Given the description of an element on the screen output the (x, y) to click on. 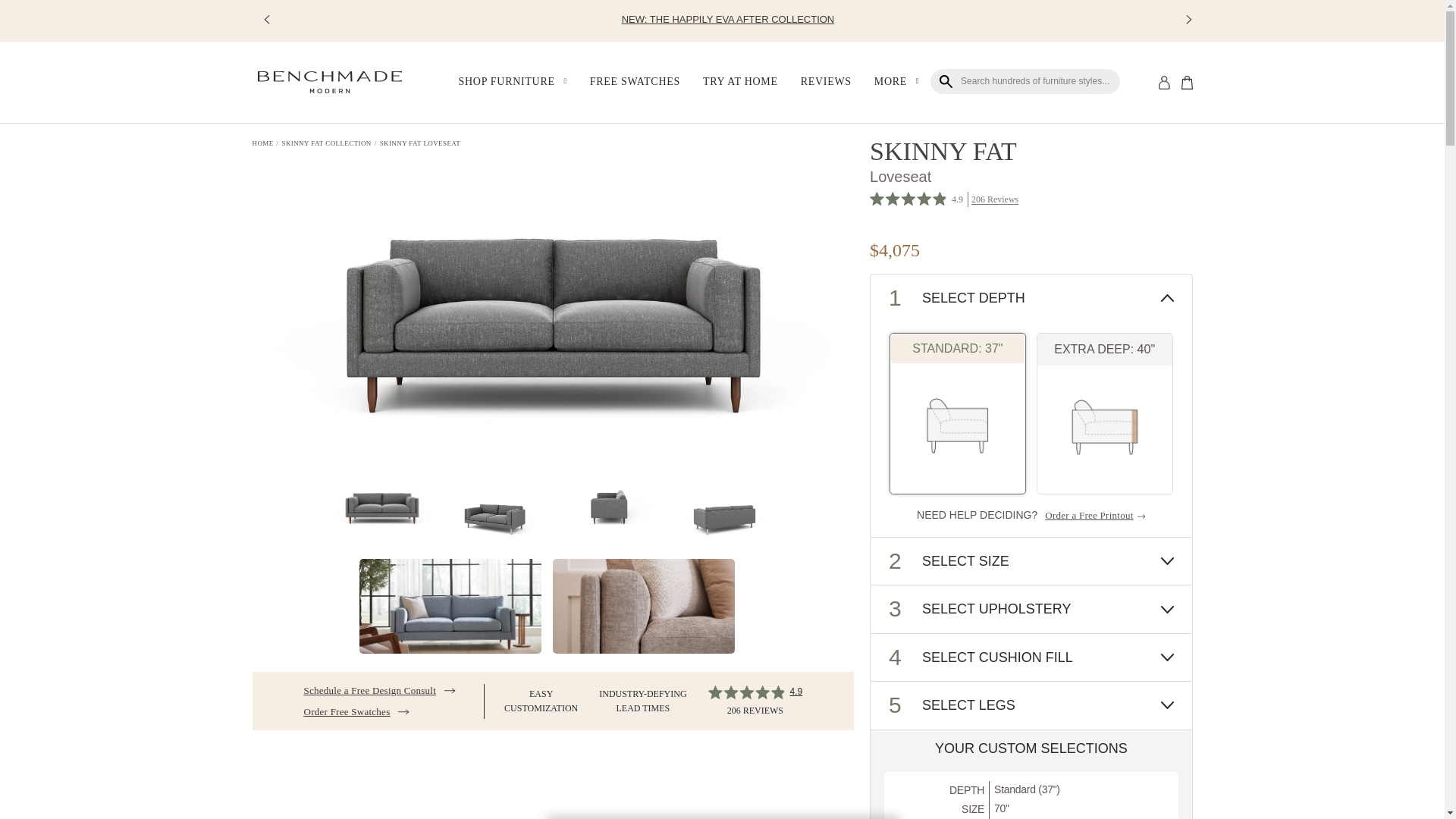
Happily Eva After (727, 19)
